Given the description of an element on the screen output the (x, y) to click on. 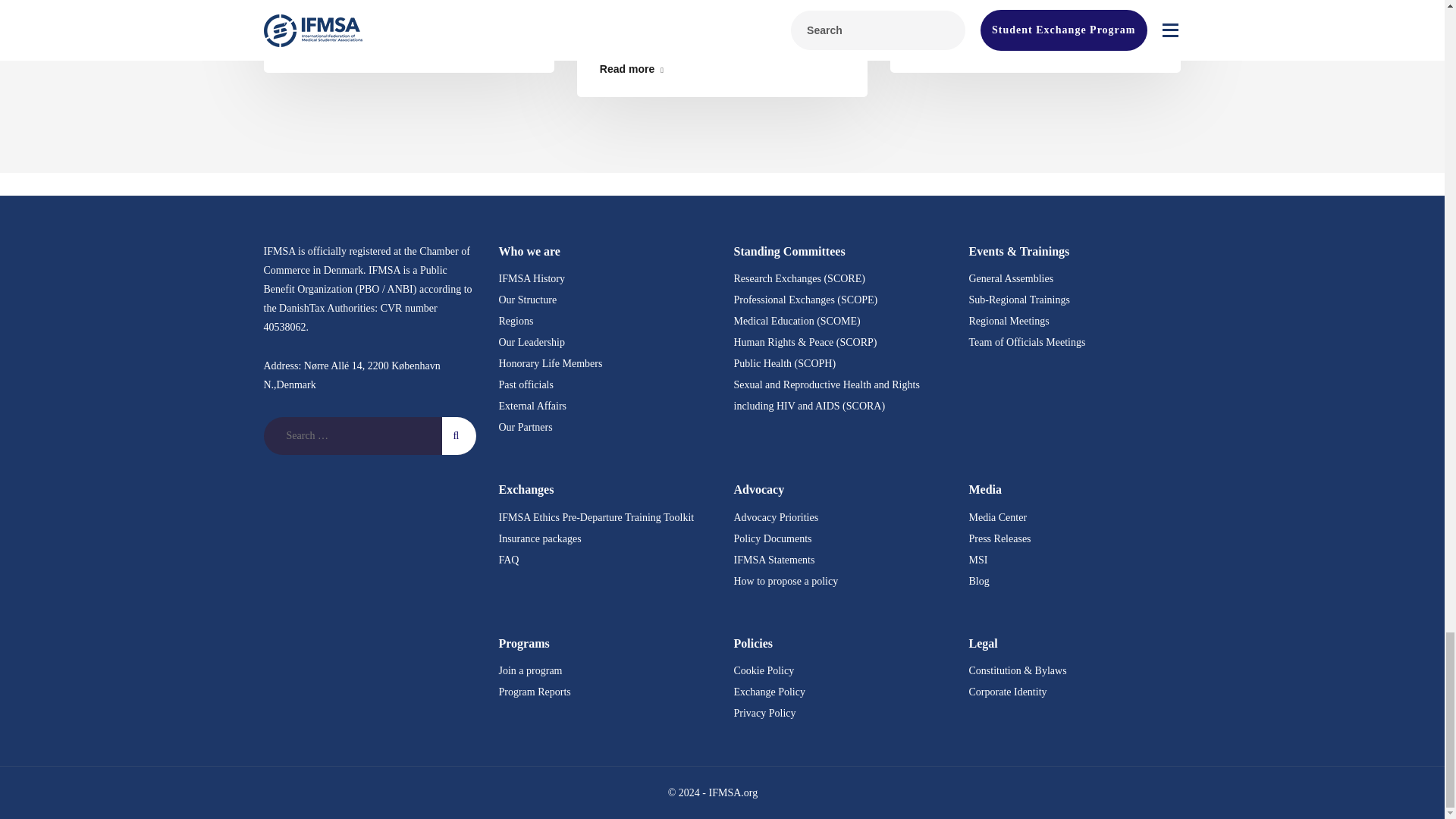
Read more (721, 68)
Read more (408, 44)
